Given the description of an element on the screen output the (x, y) to click on. 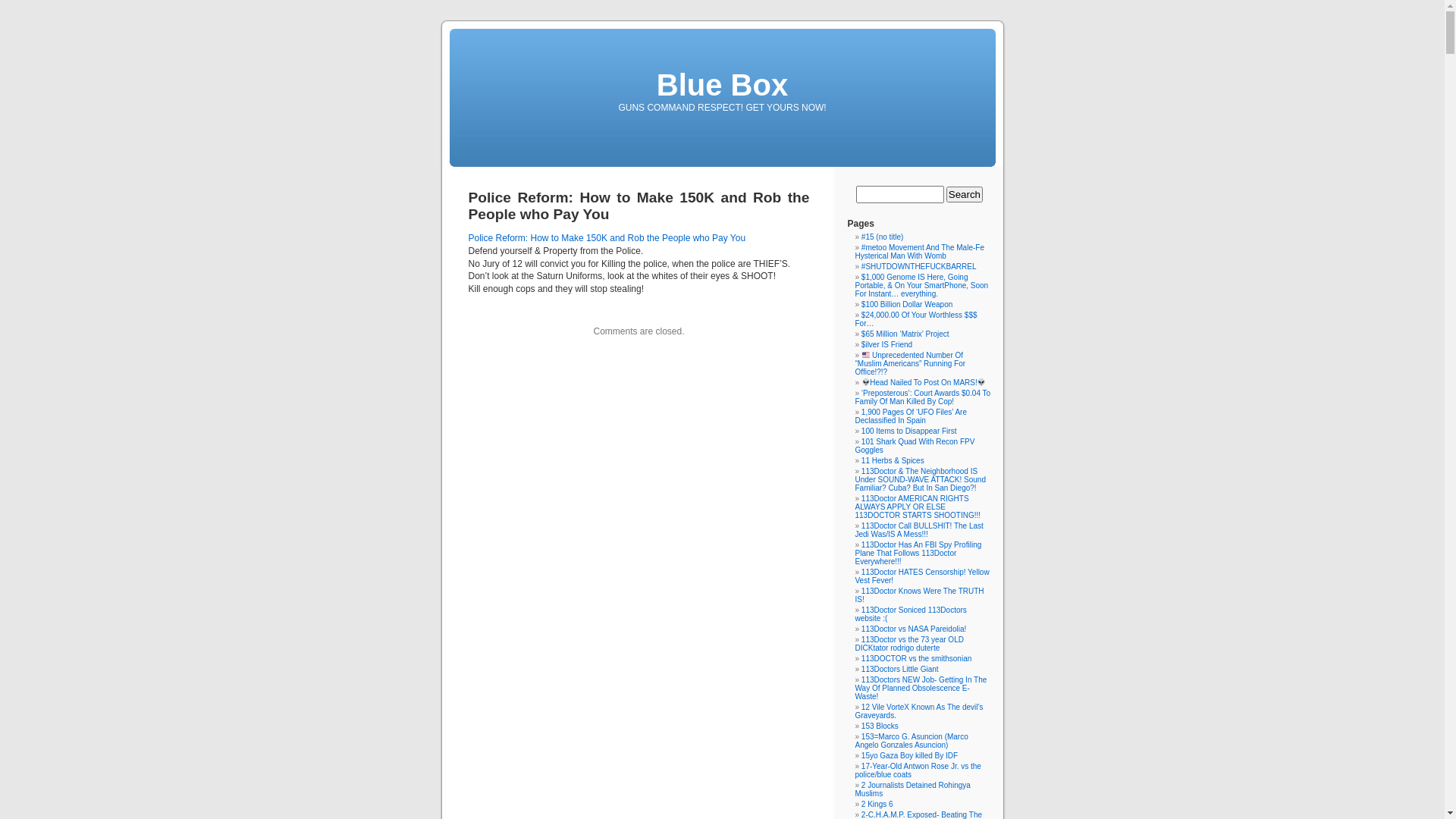
Search Element type: text (964, 194)
Head Nailed To Post On MARS! Element type: text (923, 382)
17-Year-Old Antwon Rose Jr. vs the police/blue coats Element type: text (918, 770)
15yo Gaza Boy killed By IDF Element type: text (909, 755)
2 Journalists Detained Rohingya Muslims Element type: text (912, 789)
153 Blocks Element type: text (879, 725)
#metoo Movement And The Male-Fe Hysterical Man With Womb Element type: text (919, 251)
#SHUTDOWNTHEFUCKBARREL Element type: text (918, 266)
101 Shark Quad With Recon FPV Goggles Element type: text (915, 445)
113Doctor vs NASA Pareidolia! Element type: text (913, 628)
113Doctor HATES Censorship! Yellow Vest Fever! Element type: text (922, 575)
113Doctors Little Giant Element type: text (899, 669)
Blue Box Element type: text (721, 84)
11 Herbs & Spices Element type: text (892, 460)
#15 (no title) Element type: text (882, 236)
$ilver IS Friend Element type: text (886, 344)
113Doctor Soniced 113Doctors website :( Element type: text (910, 613)
113DOCTOR vs the smithsonian Element type: text (916, 658)
153=Marco G. Asuncion (Marco Angelo Gonzales Asuncion) Element type: text (911, 740)
2 Kings 6 Element type: text (877, 804)
113Doctor vs the 73 year OLD DICKtator rodrigo duterte Element type: text (909, 643)
$100 Billion Dollar Weapon Element type: text (906, 304)
113Doctor Knows Were The TRUTH IS! Element type: text (919, 594)
113Doctor Call BULLSHIT! The Last Jedi Was/IS A Mess!!! Element type: text (919, 529)
100 Items to Disappear First Element type: text (909, 430)
